Given the description of an element on the screen output the (x, y) to click on. 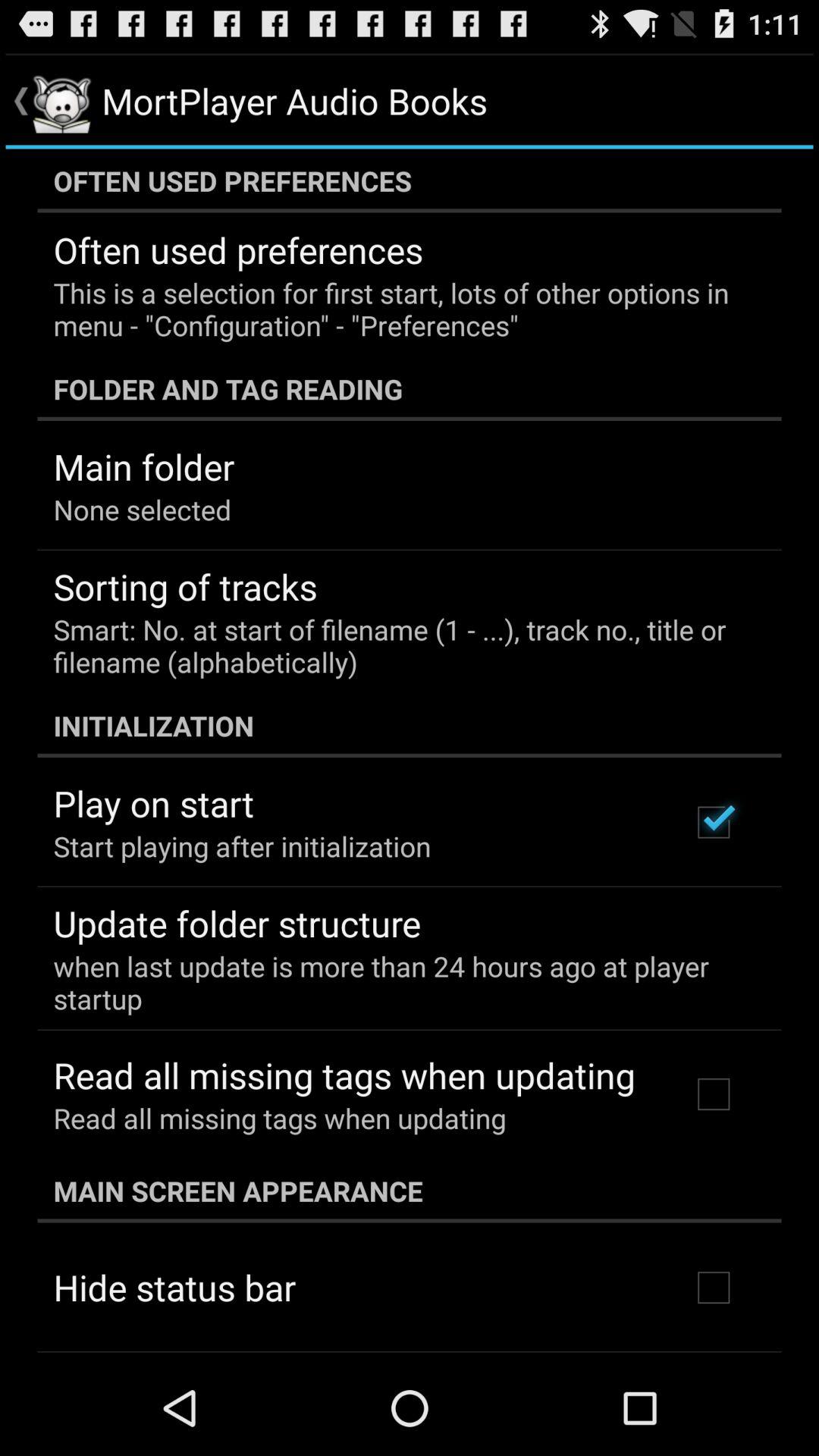
press item above the when last update app (236, 923)
